Given the description of an element on the screen output the (x, y) to click on. 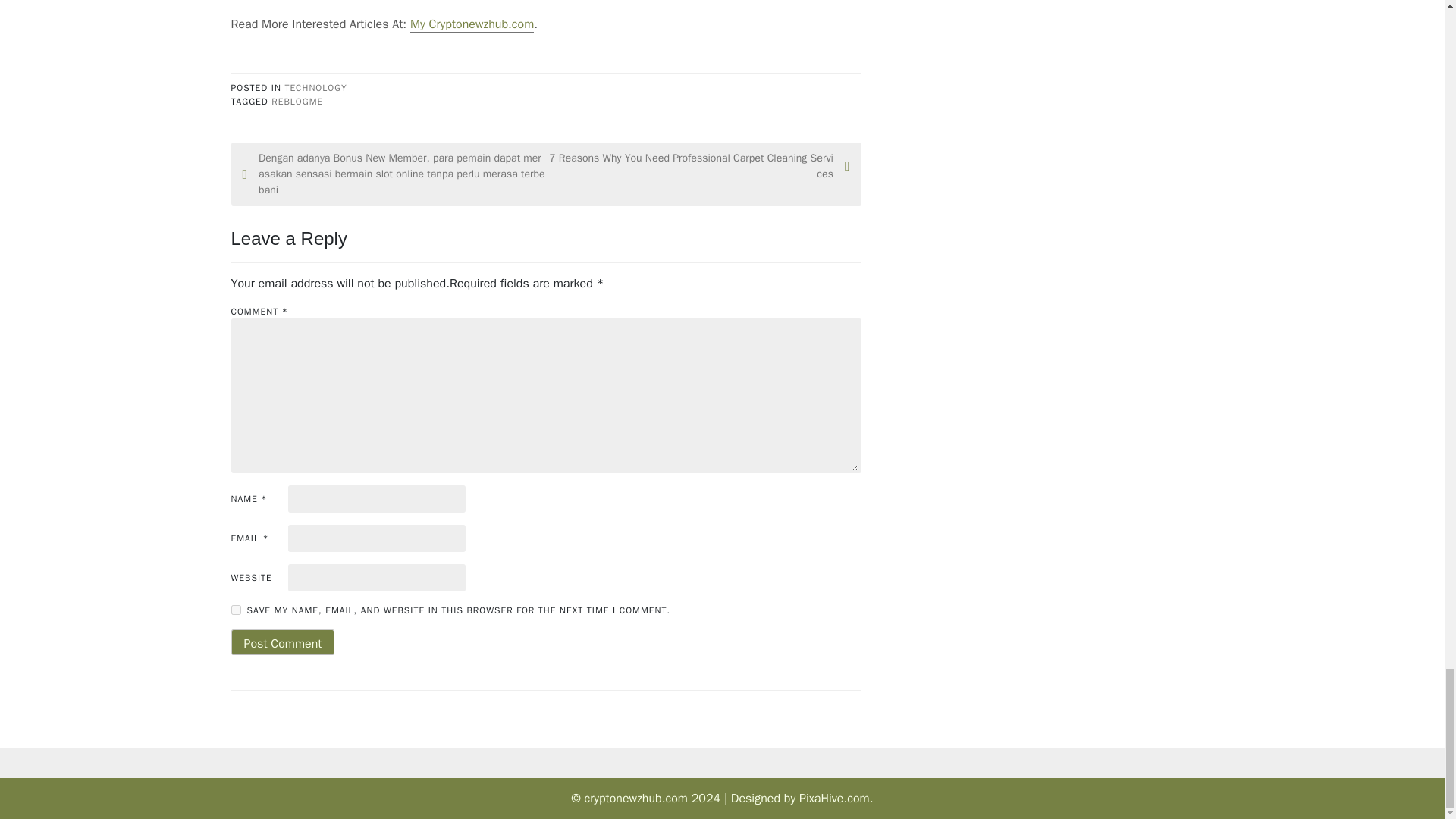
yes (235, 610)
Post Comment (282, 642)
REBLOGME (296, 101)
TECHNOLOGY (314, 87)
My Cryptonewzhub.com (472, 24)
Post Comment (282, 642)
